Given the description of an element on the screen output the (x, y) to click on. 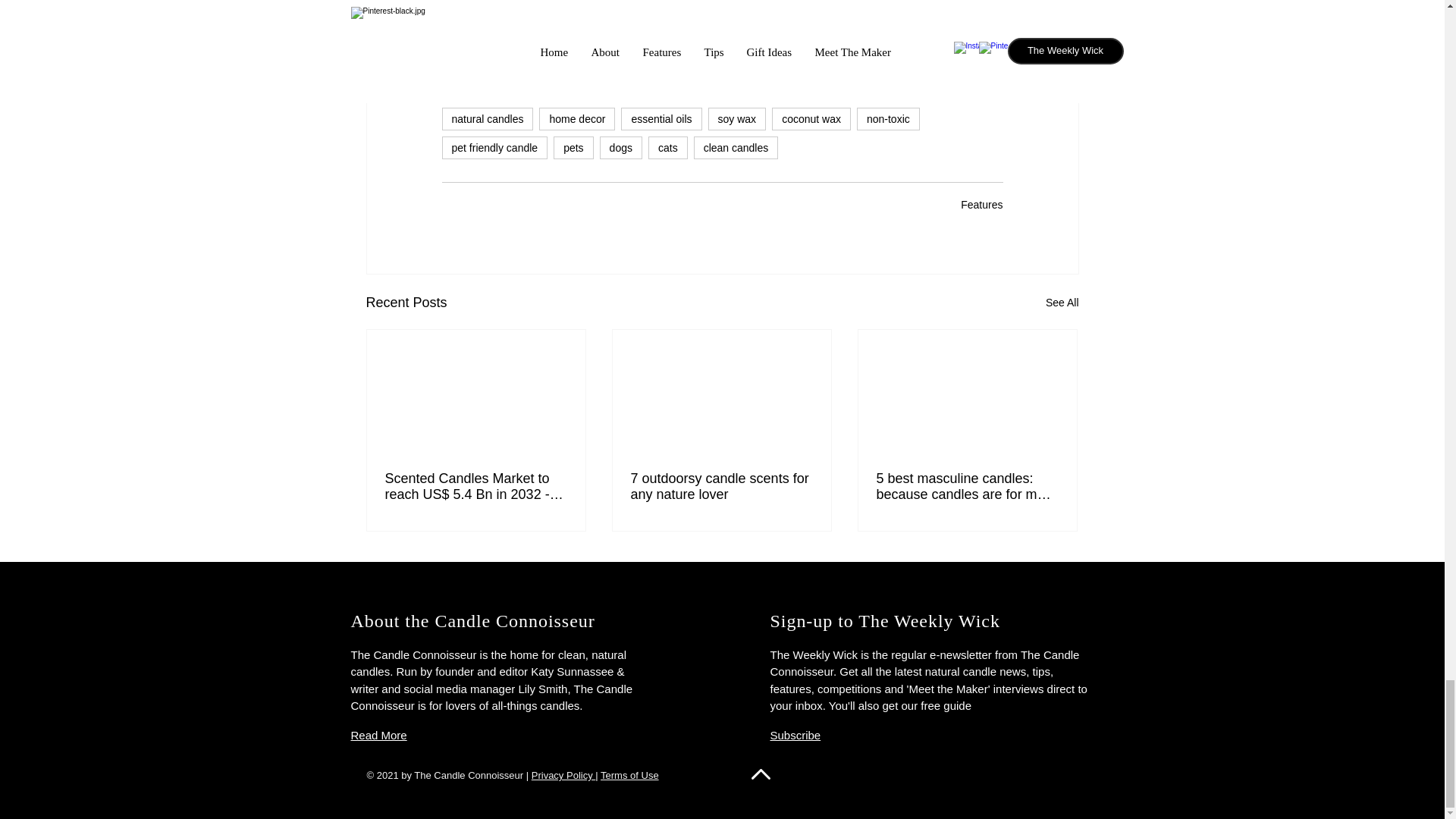
essential oils (661, 118)
non-toxic (888, 118)
coconut wax (810, 118)
natural candles (486, 118)
soy wax (737, 118)
home decor (576, 118)
